Given the description of an element on the screen output the (x, y) to click on. 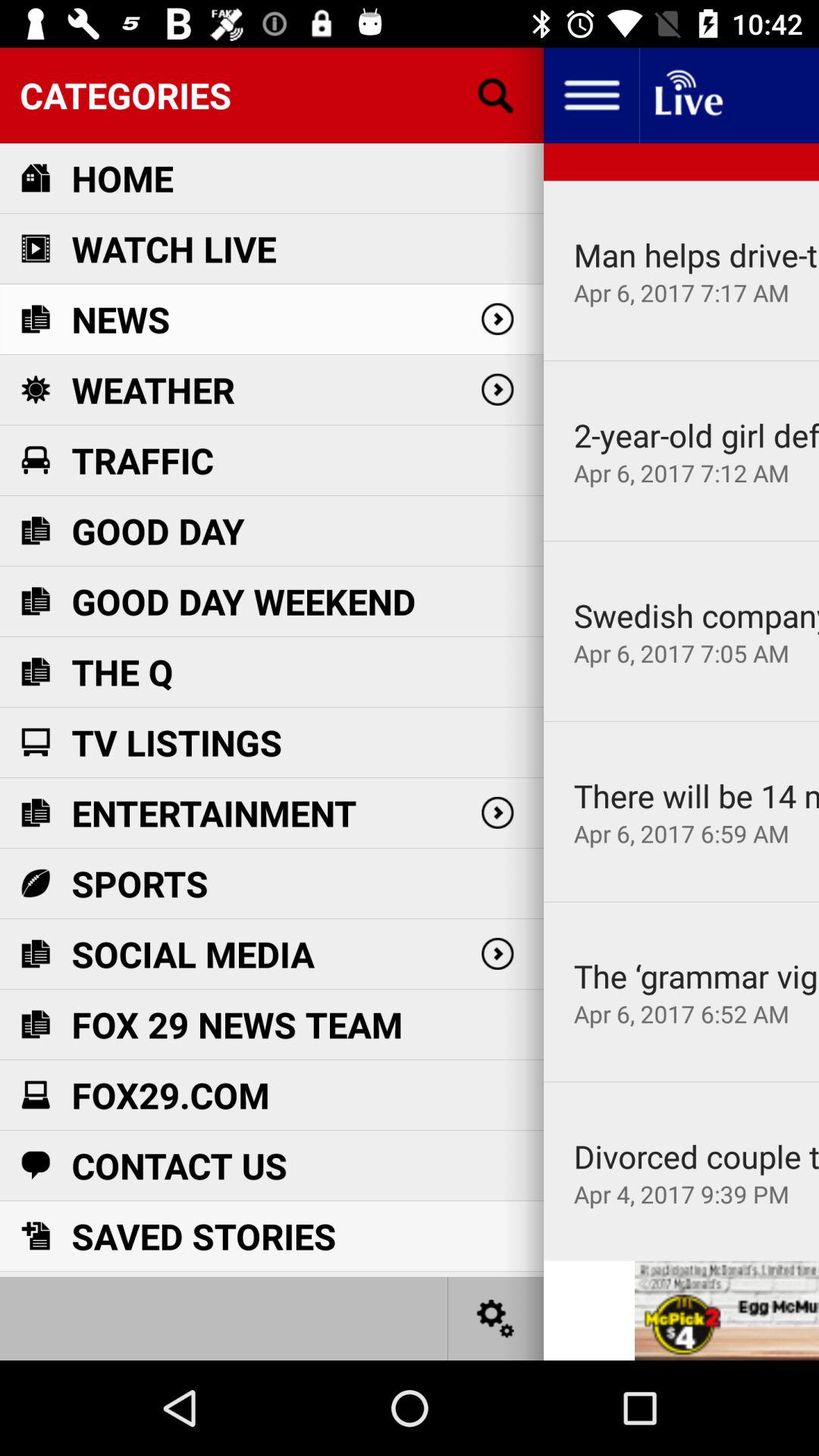
search categories (495, 95)
